Given the description of an element on the screen output the (x, y) to click on. 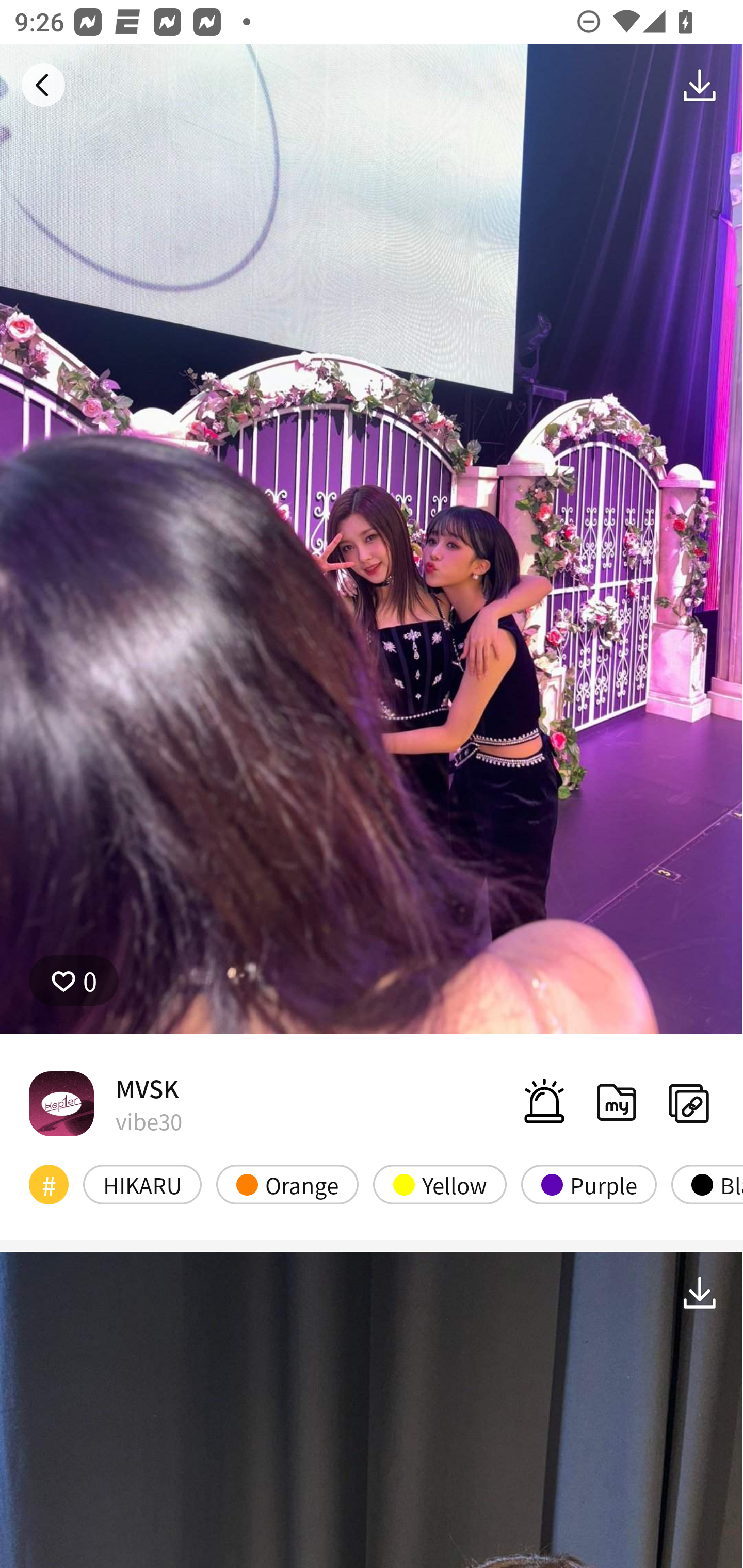
0 (73, 980)
MVSK vibe30 (105, 1102)
HIKARU (142, 1184)
Orange (287, 1184)
Yellow (439, 1184)
Purple (588, 1184)
